Given the description of an element on the screen output the (x, y) to click on. 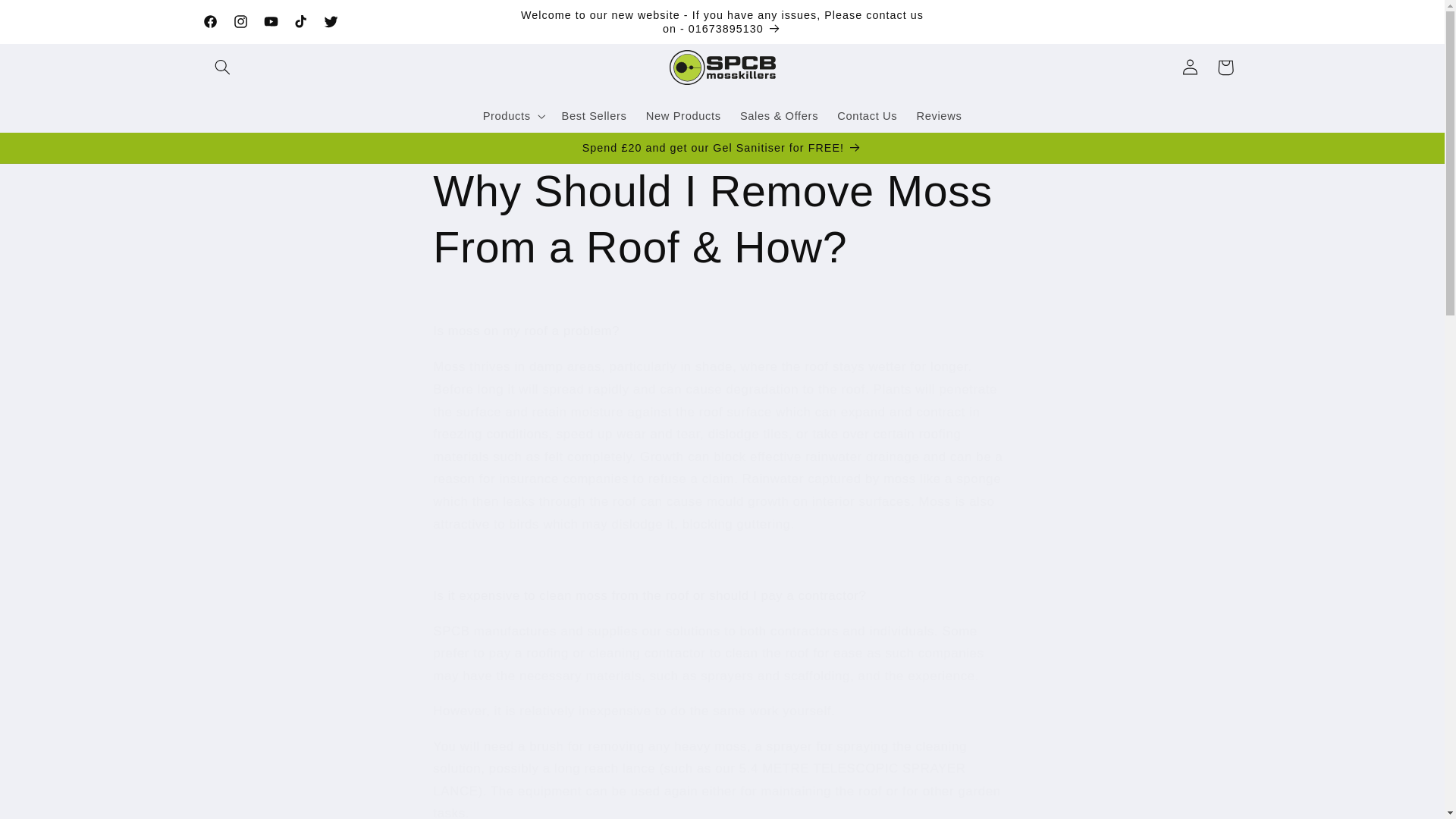
TikTok (300, 21)
Instagram (240, 21)
Twitter (330, 21)
YouTube (270, 21)
Skip to content (48, 18)
Facebook (210, 21)
